Given the description of an element on the screen output the (x, y) to click on. 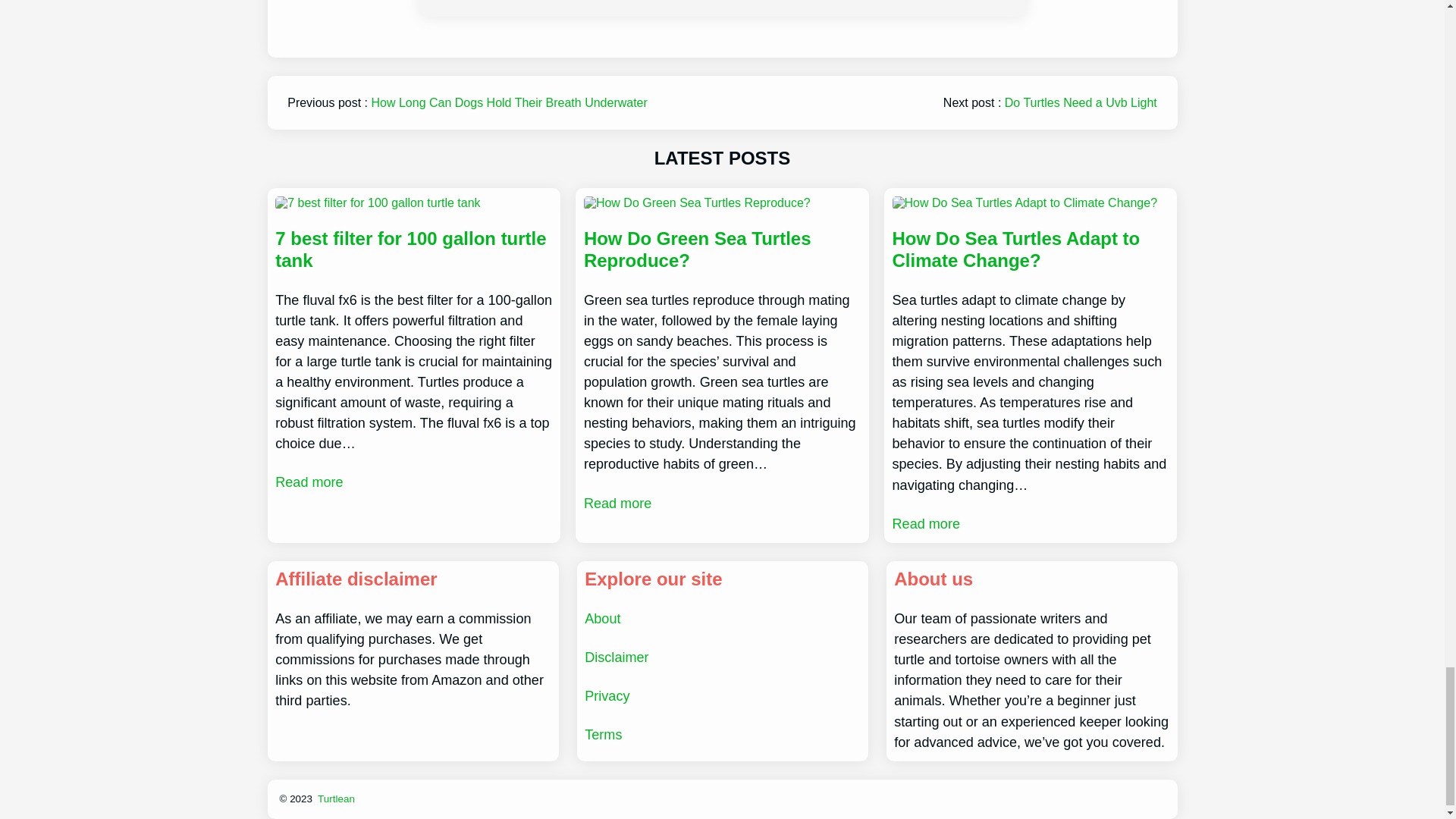
About (602, 618)
Terms (603, 734)
How Long Can Dogs Hold Their Breath Underwater (509, 102)
7 best filter for 100 gallon turtle tank (413, 249)
Do Turtles Need a Uvb Light (1080, 102)
Privacy (606, 695)
Read more (308, 482)
How Do Green Sea Turtles Reproduce? (721, 249)
Read more (616, 503)
How Do Sea Turtles Adapt to Climate Change? (1030, 249)
